Given the description of an element on the screen output the (x, y) to click on. 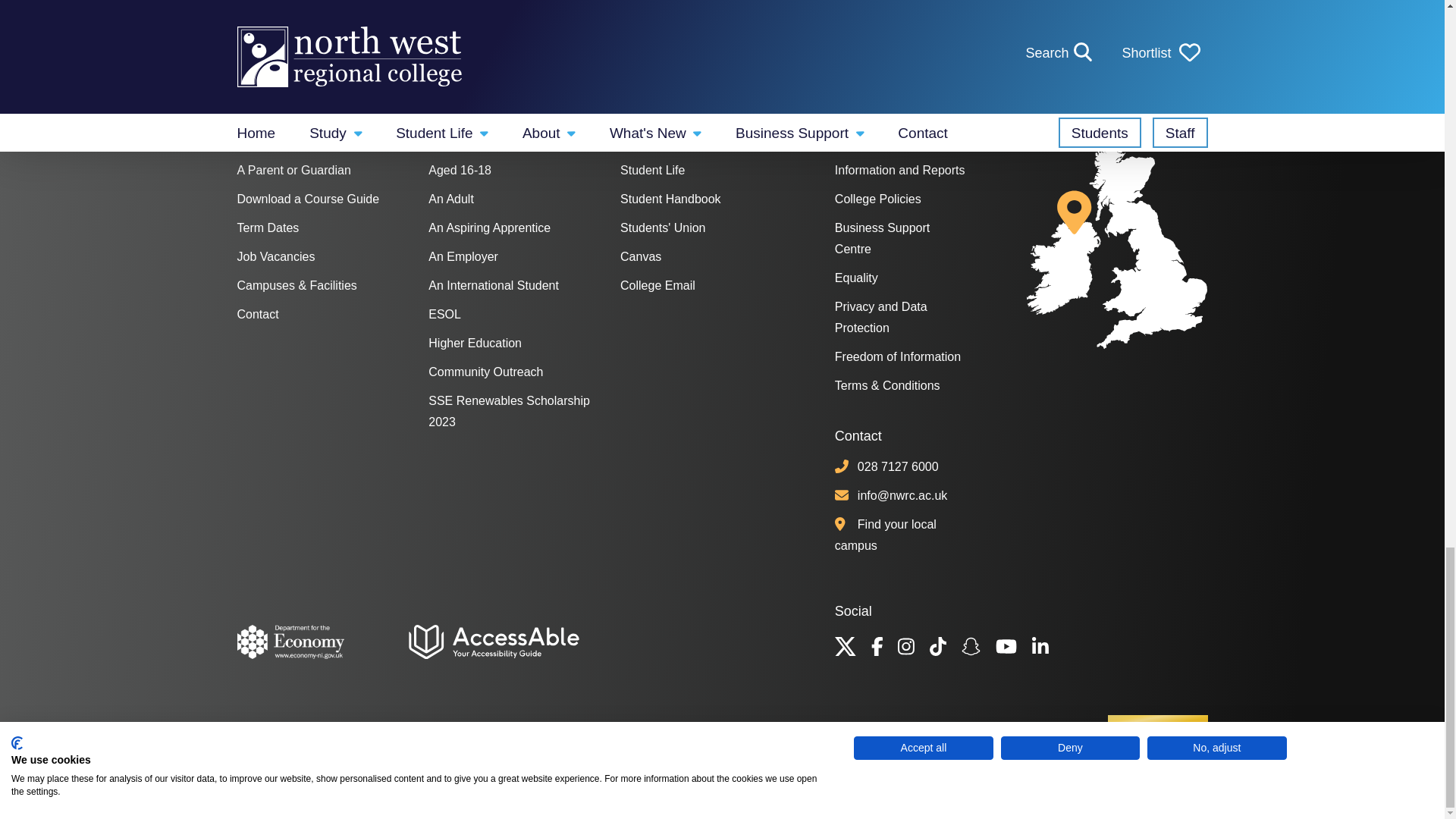
Back to top (1157, 727)
